Given the description of an element on the screen output the (x, y) to click on. 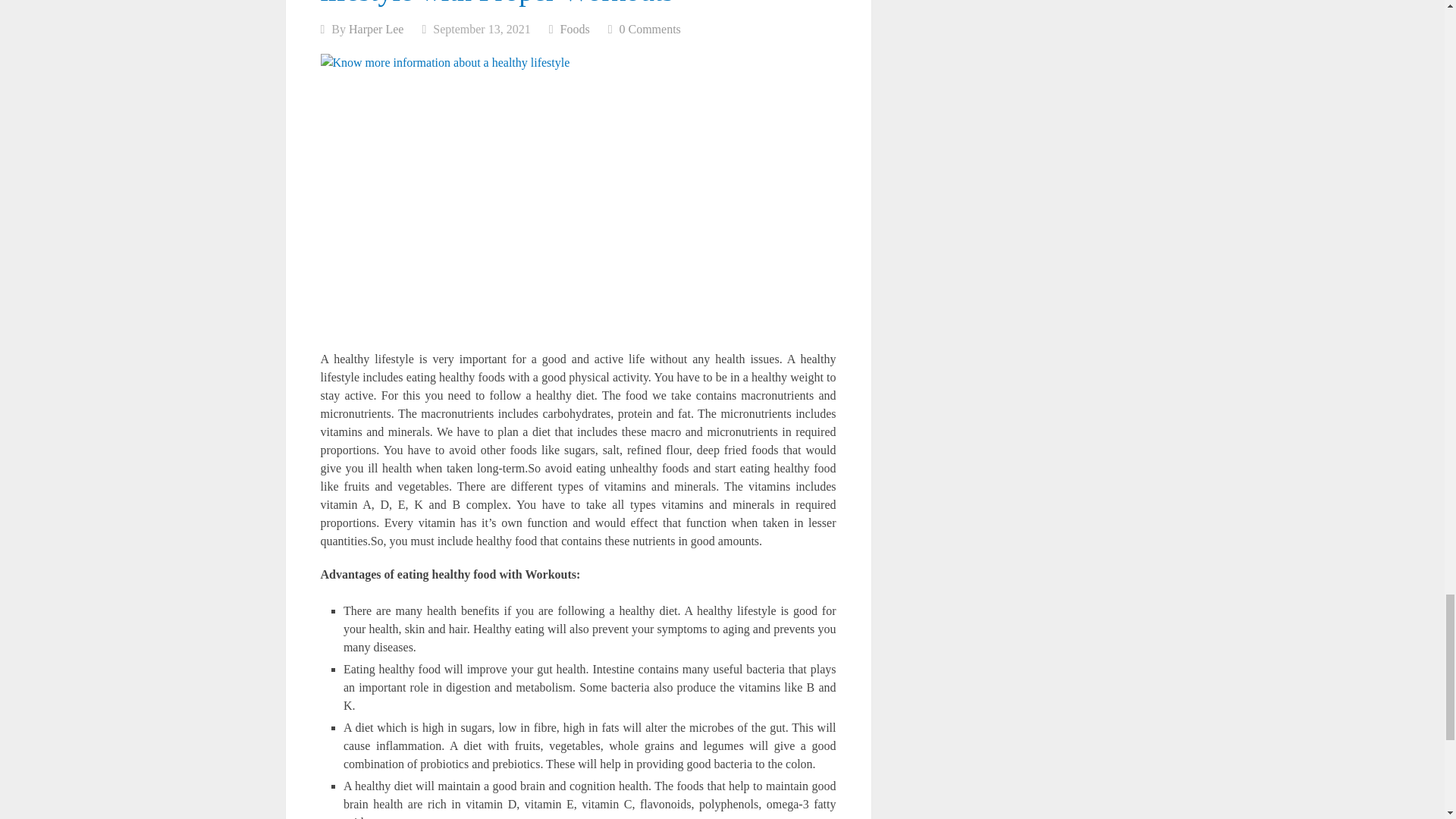
Harper Lee (376, 29)
0 Comments (648, 29)
Foods (574, 29)
Posts by Harper Lee (376, 29)
